Given the description of an element on the screen output the (x, y) to click on. 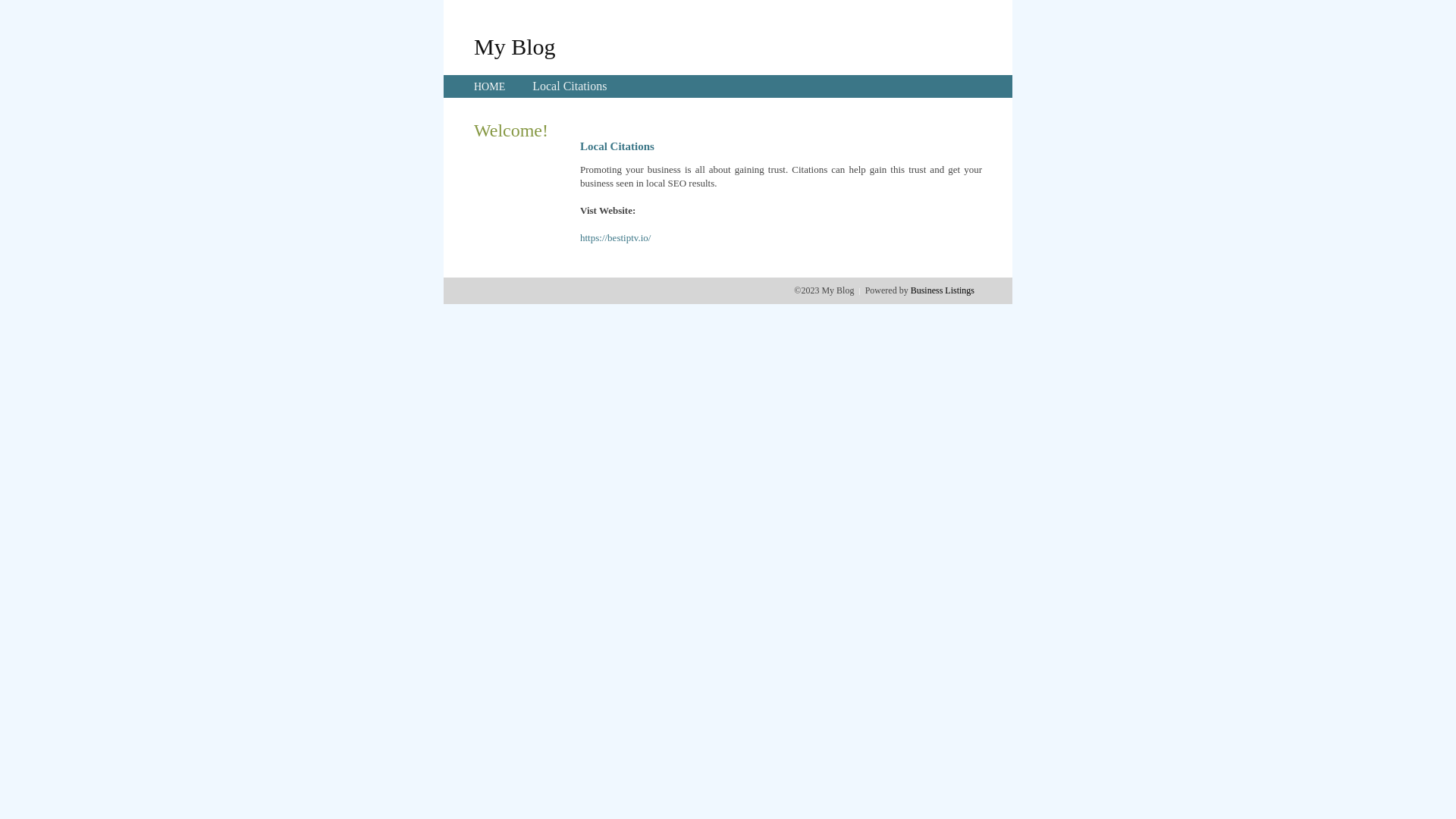
https://bestiptv.io/ Element type: text (615, 237)
My Blog Element type: text (514, 46)
HOME Element type: text (489, 86)
Local Citations Element type: text (569, 85)
Business Listings Element type: text (942, 290)
